Given the description of an element on the screen output the (x, y) to click on. 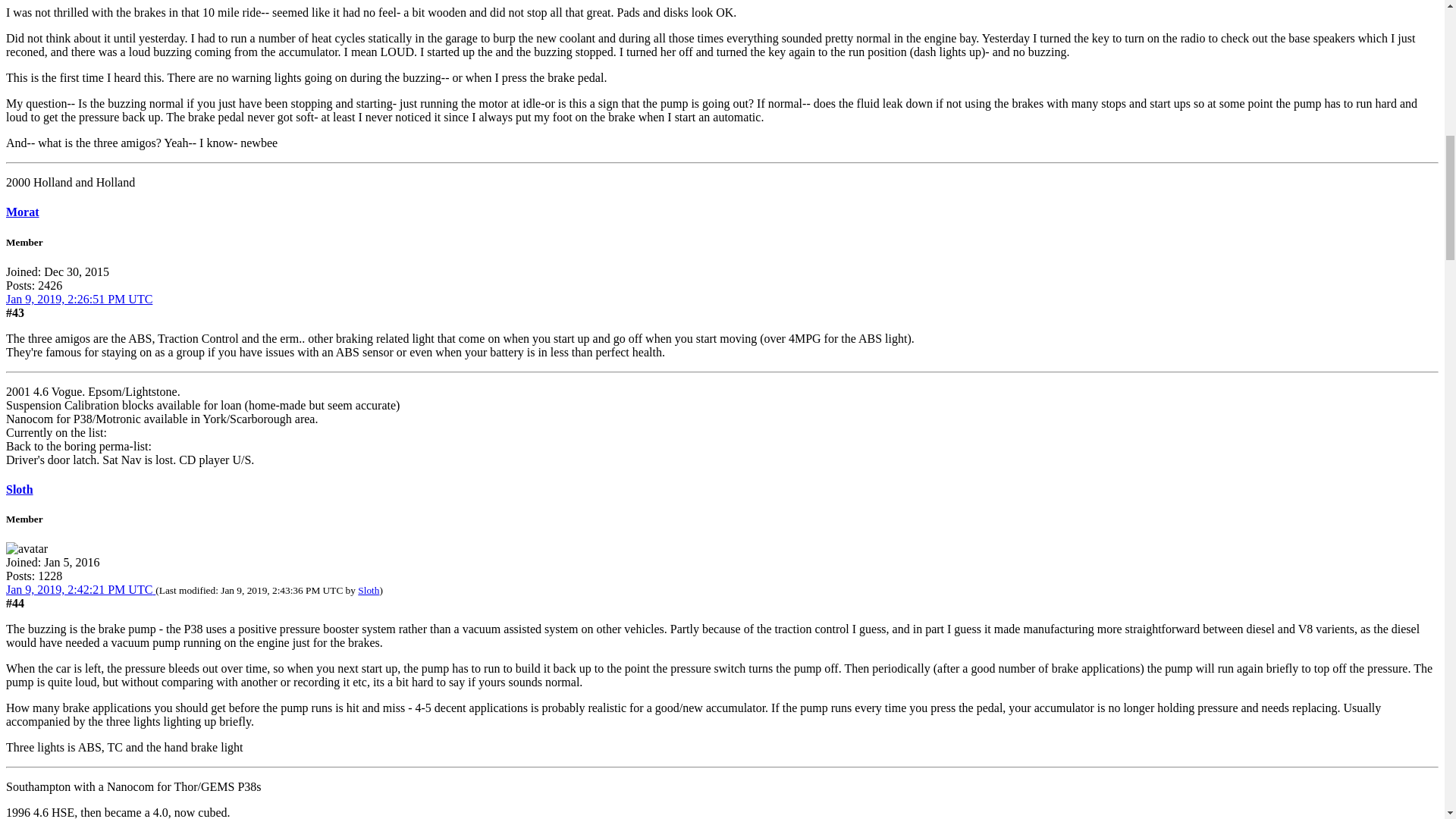
Jan 9, 2019, 2:26:51 PM UTC (78, 298)
Morat (22, 211)
Sloth (19, 489)
Jan 9, 2019, 2:42:21 PM UTC (80, 589)
Sloth (368, 590)
